Given the description of an element on the screen output the (x, y) to click on. 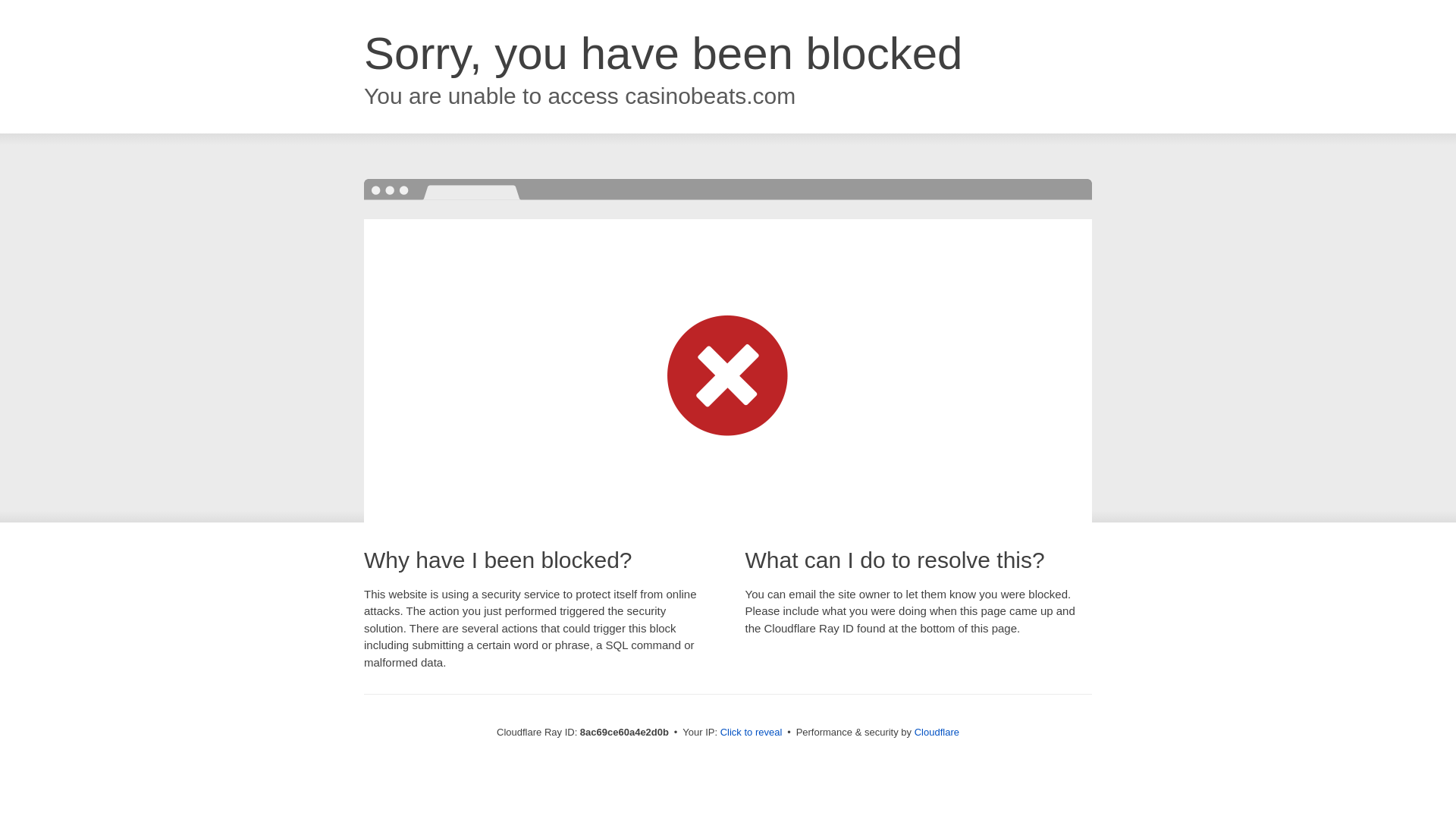
Click to reveal (751, 732)
Cloudflare (936, 731)
